Given the description of an element on the screen output the (x, y) to click on. 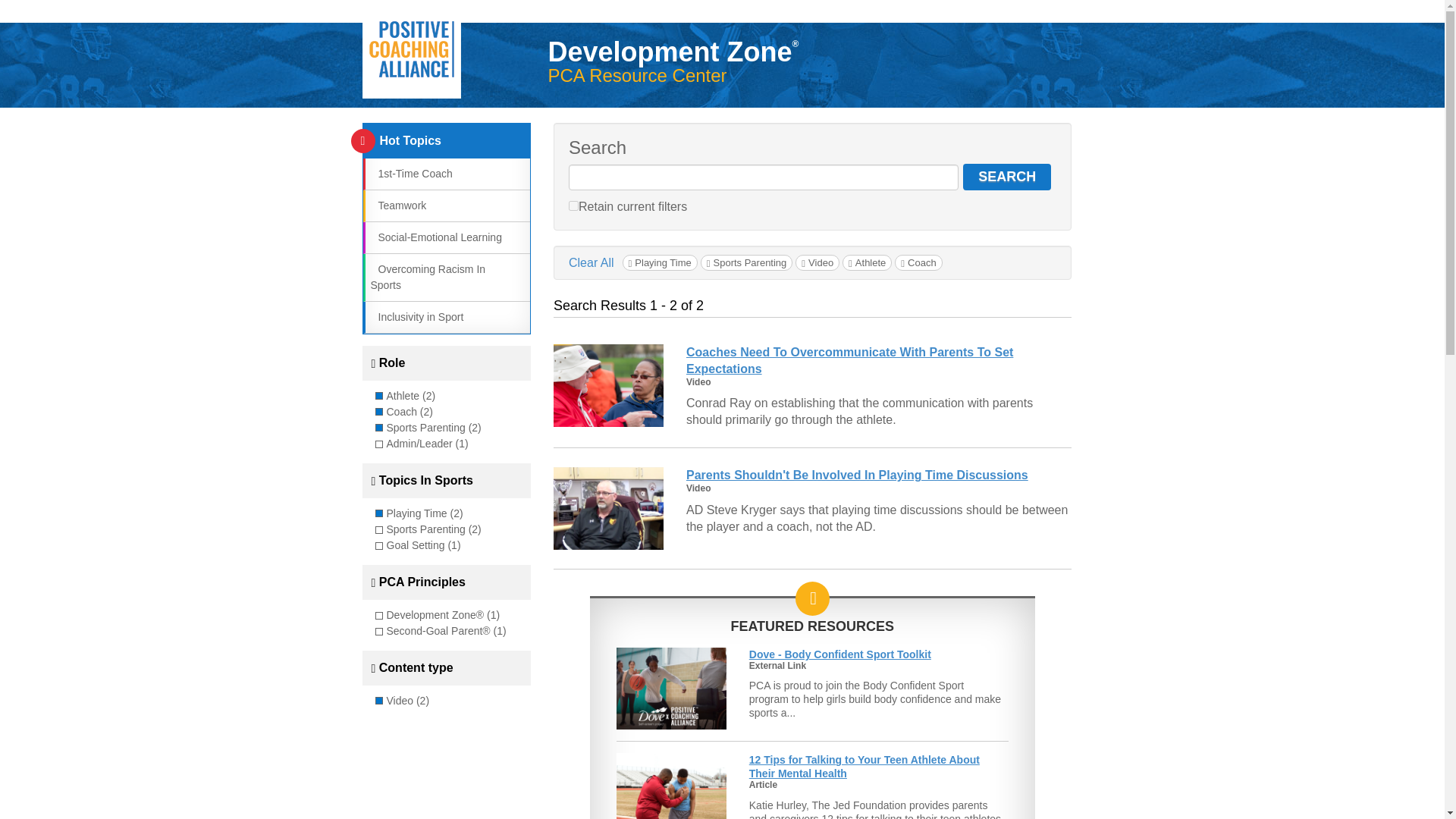
Sports Parenting (746, 262)
Video (817, 262)
SEARCH (1006, 176)
Overcoming Racism In Sports (426, 276)
Playing Time (660, 262)
Clear All (591, 262)
Inclusivity in Sport (416, 316)
Social-Emotional Learning (434, 236)
Teamwork (397, 205)
Dove - Body Confident Sport Toolkit (840, 654)
1 (573, 205)
Parents Shouldn't Be Involved In Playing Time Discussions (856, 474)
1st-Time Coach (410, 173)
